Given the description of an element on the screen output the (x, y) to click on. 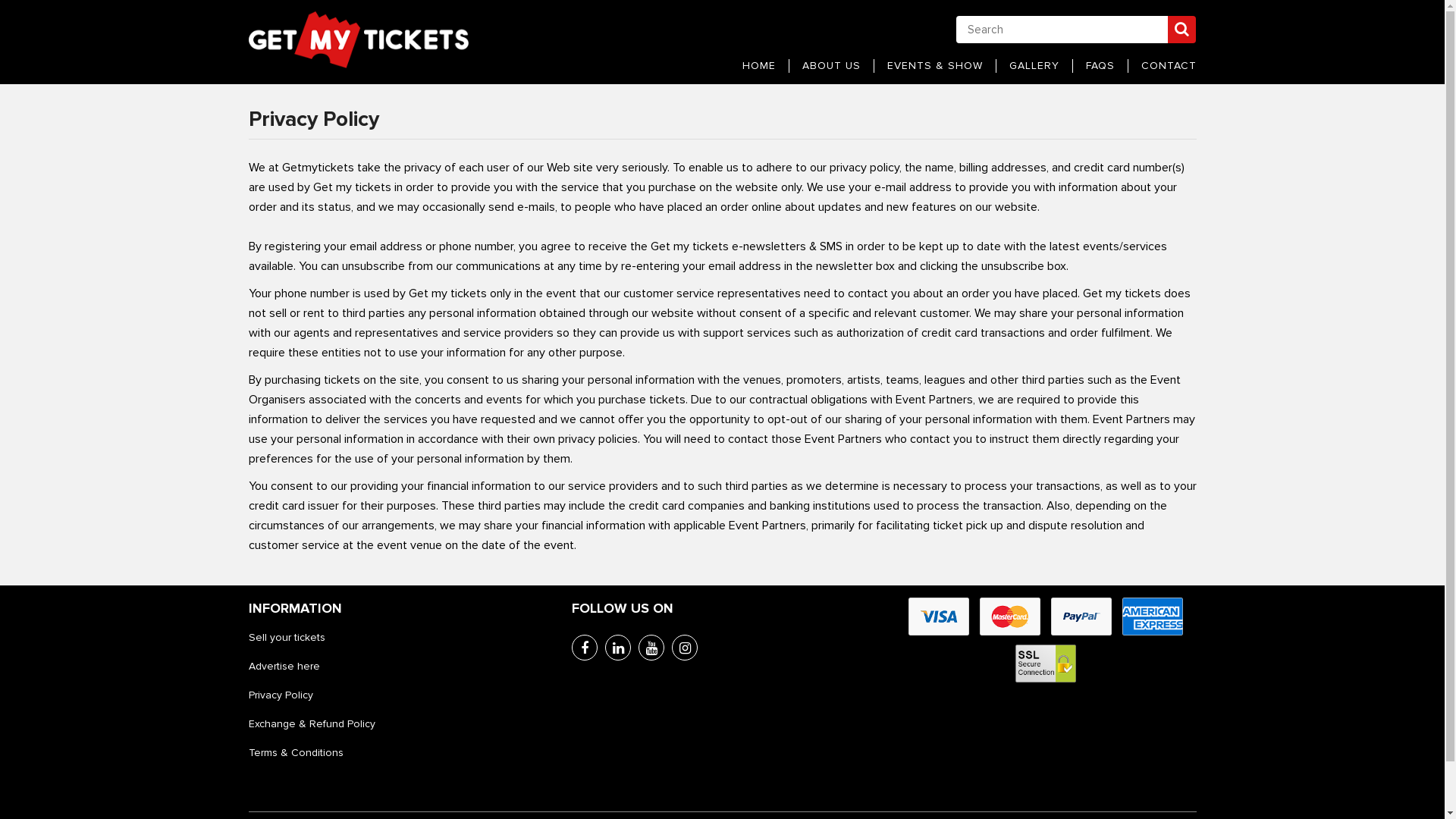
Advertise here Element type: text (284, 666)
GALLERY Element type: text (1033, 65)
CONTACT Element type: text (1167, 65)
  Element type: text (249, 781)
HOME Element type: text (758, 65)
EVENTS & SHOW Element type: text (934, 65)
FAQS Element type: text (1099, 65)
Terms & Conditions Element type: text (295, 752)
Sell your tickets Element type: text (286, 637)
ABOUT US Element type: text (831, 65)
Privacy Policy Element type: text (280, 694)
Exchange & Refund Policy Element type: text (311, 723)
